Given the description of an element on the screen output the (x, y) to click on. 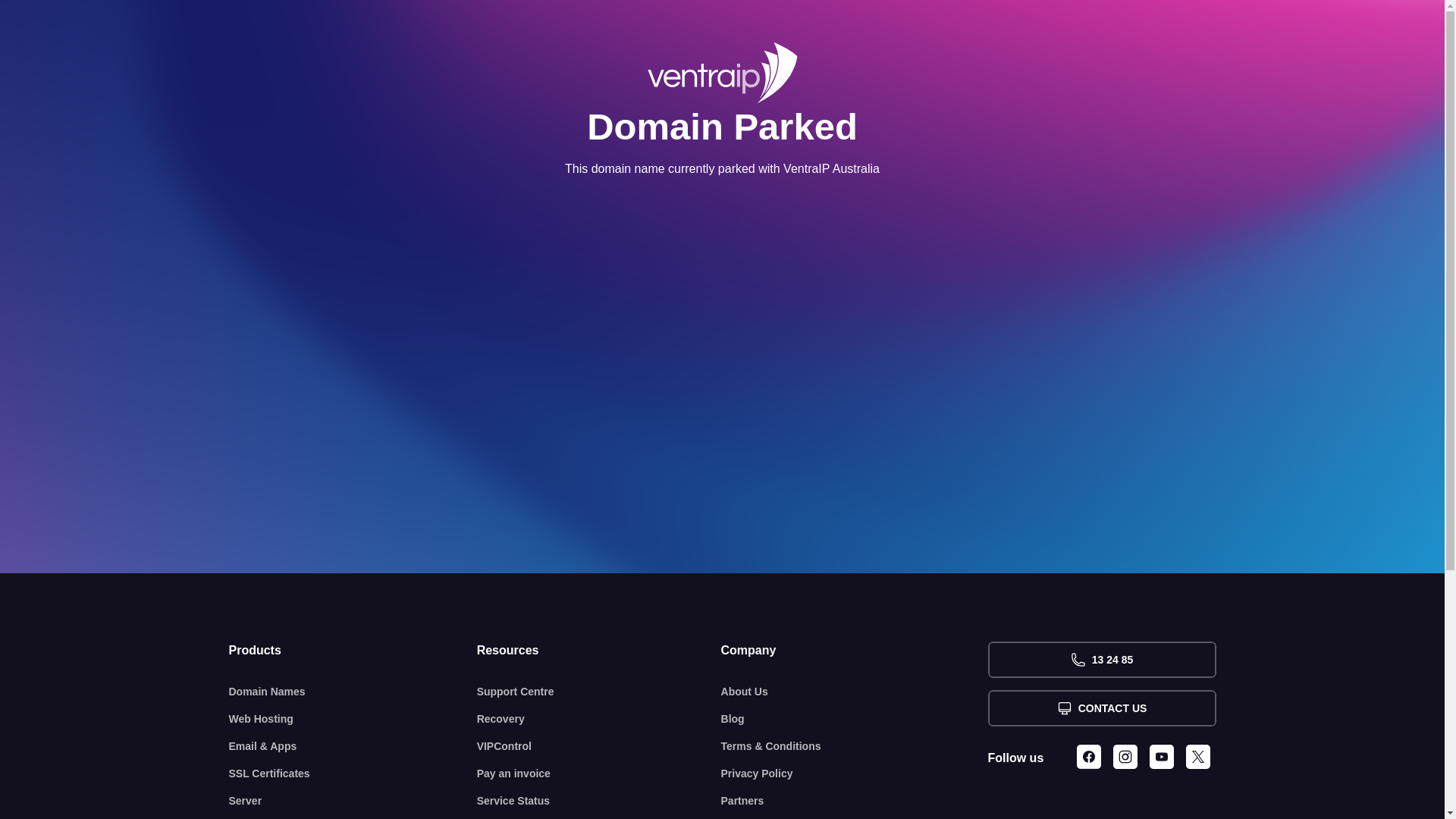
Blog Element type: text (854, 718)
Email & Apps Element type: text (352, 745)
Service Status Element type: text (598, 800)
Partners Element type: text (854, 800)
SSL Certificates Element type: text (352, 773)
Privacy Policy Element type: text (854, 773)
Domain Names Element type: text (352, 691)
CONTACT US Element type: text (1101, 708)
VIPControl Element type: text (598, 745)
13 24 85 Element type: text (1101, 659)
Terms & Conditions Element type: text (854, 745)
Server Element type: text (352, 800)
Web Hosting Element type: text (352, 718)
Support Centre Element type: text (598, 691)
About Us Element type: text (854, 691)
Pay an invoice Element type: text (598, 773)
Recovery Element type: text (598, 718)
